Given the description of an element on the screen output the (x, y) to click on. 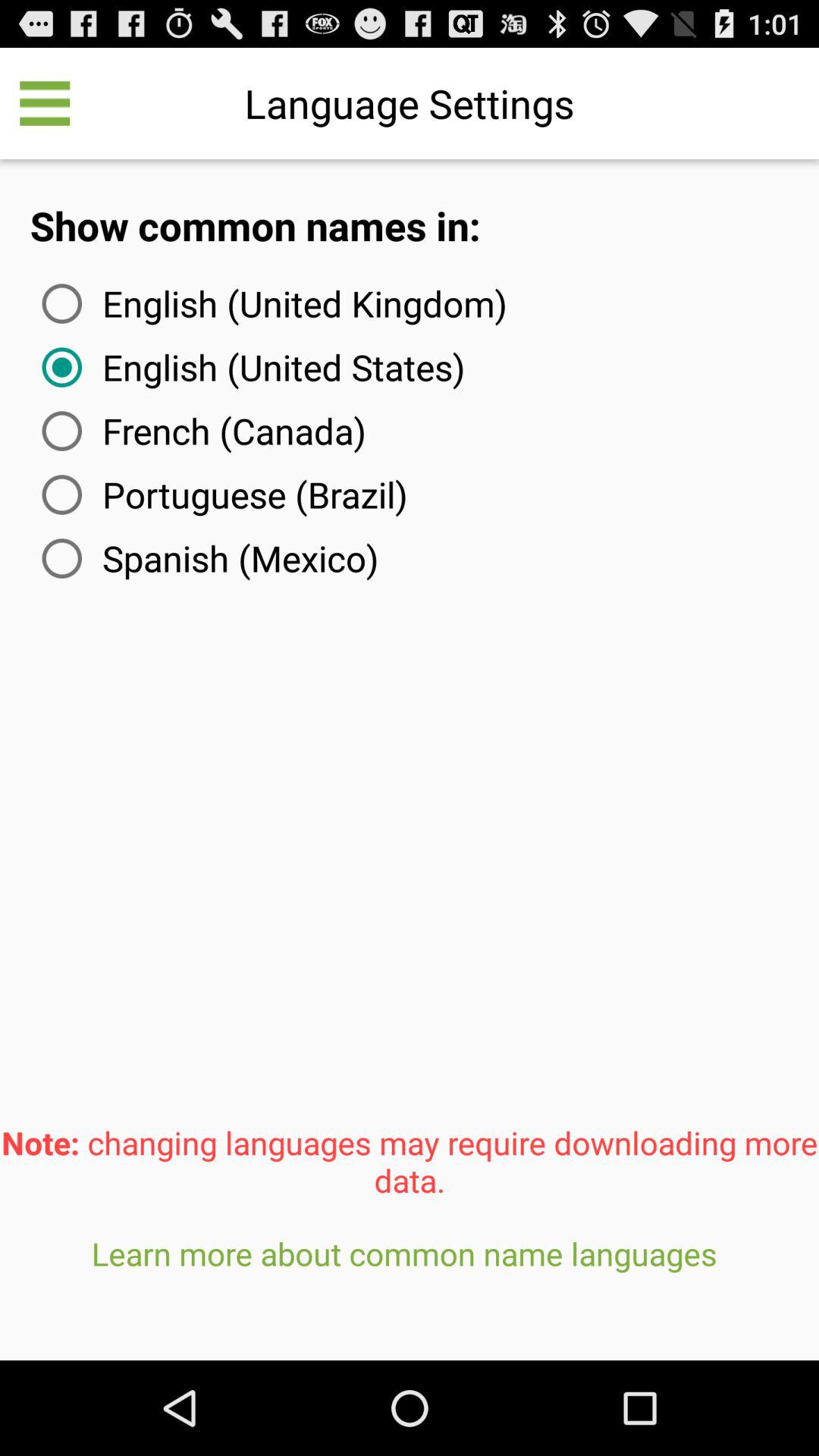
launch icon below note changing languages (409, 1290)
